Given the description of an element on the screen output the (x, y) to click on. 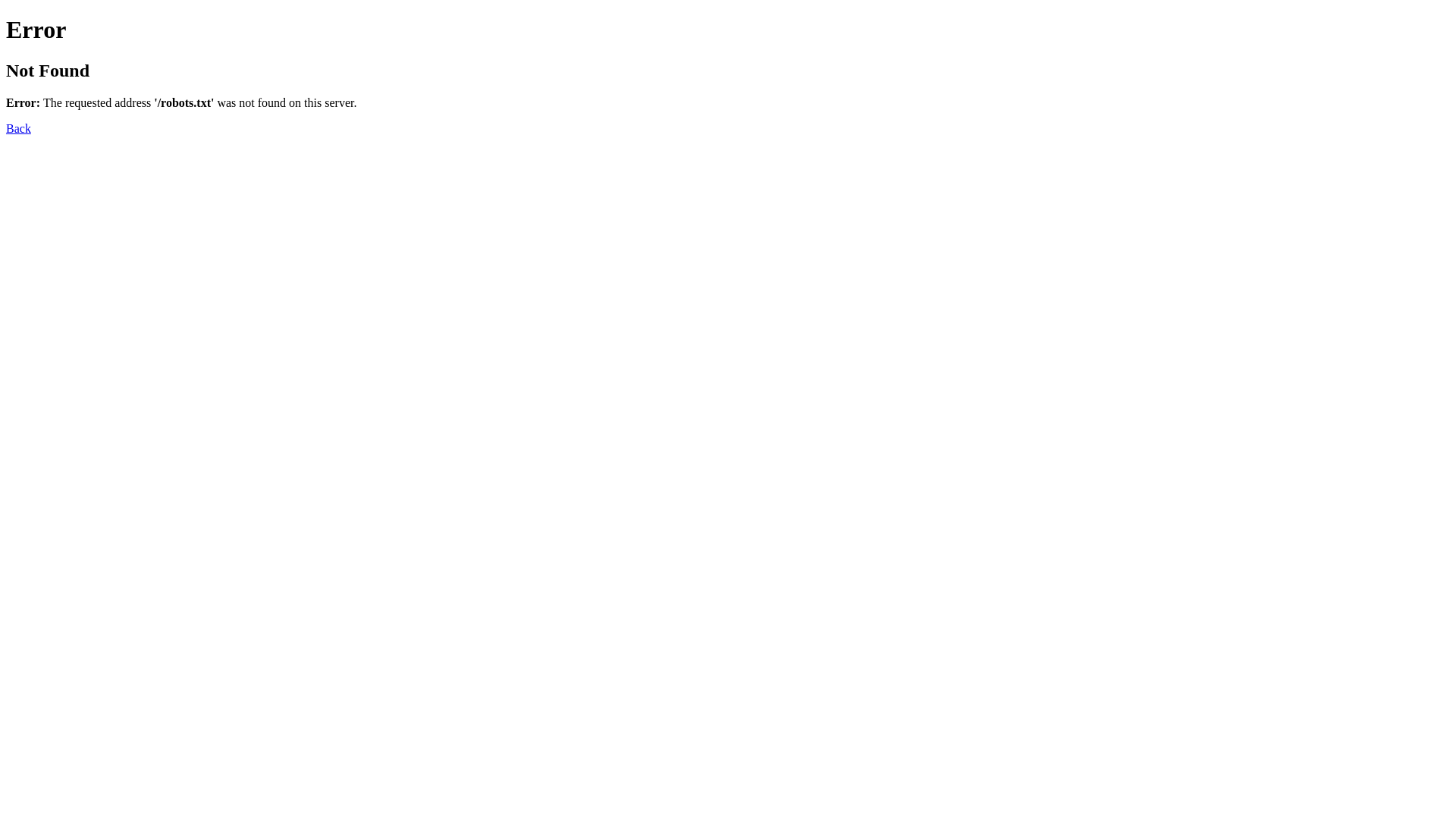
Back Element type: text (18, 128)
